Given the description of an element on the screen output the (x, y) to click on. 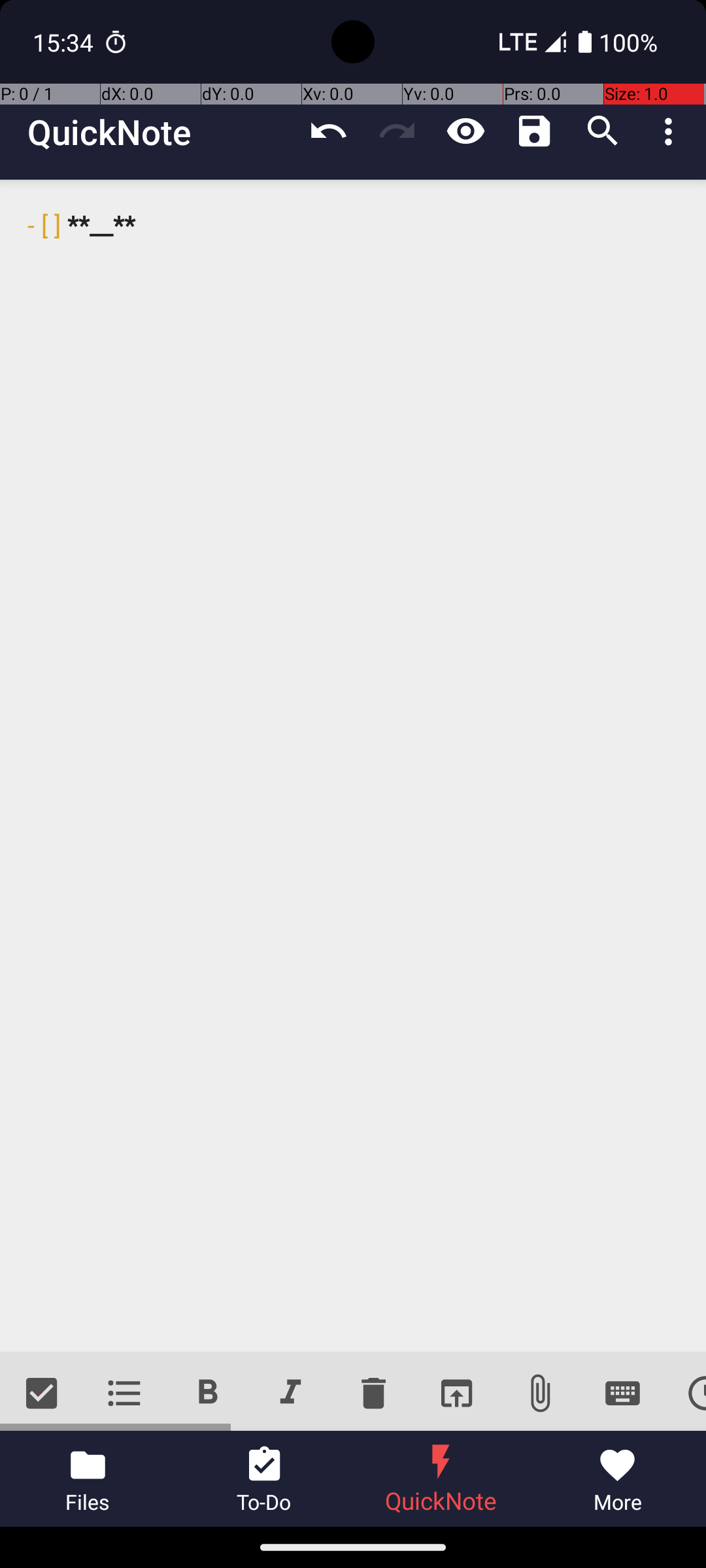
- [ ] **__** Element type: android.widget.EditText (353, 765)
